Given the description of an element on the screen output the (x, y) to click on. 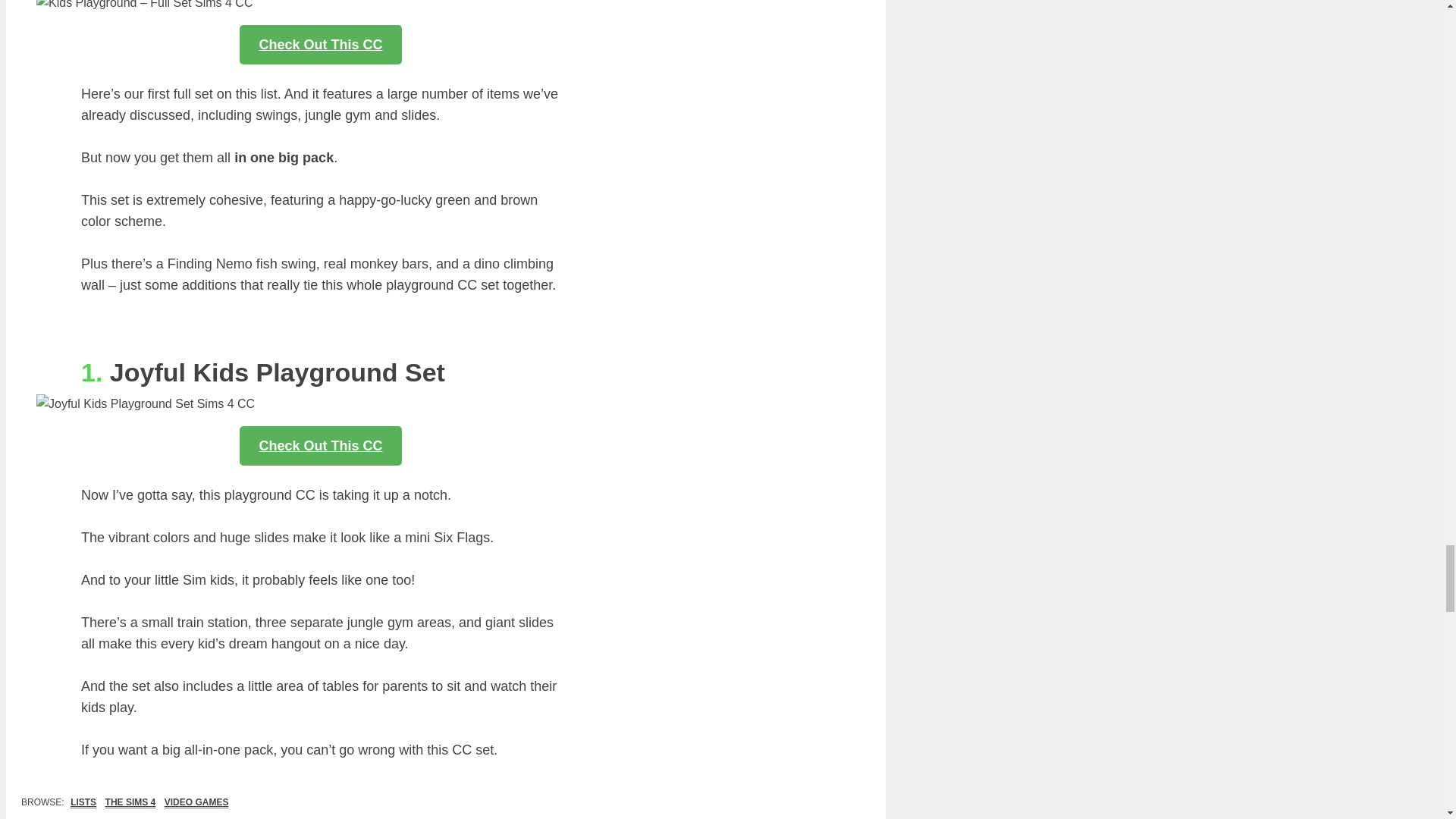
LISTS (82, 802)
Check Out This CC (320, 44)
VIDEO GAMES (196, 802)
Check Out This CC (320, 445)
THE SIMS 4 (129, 802)
